Given the description of an element on the screen output the (x, y) to click on. 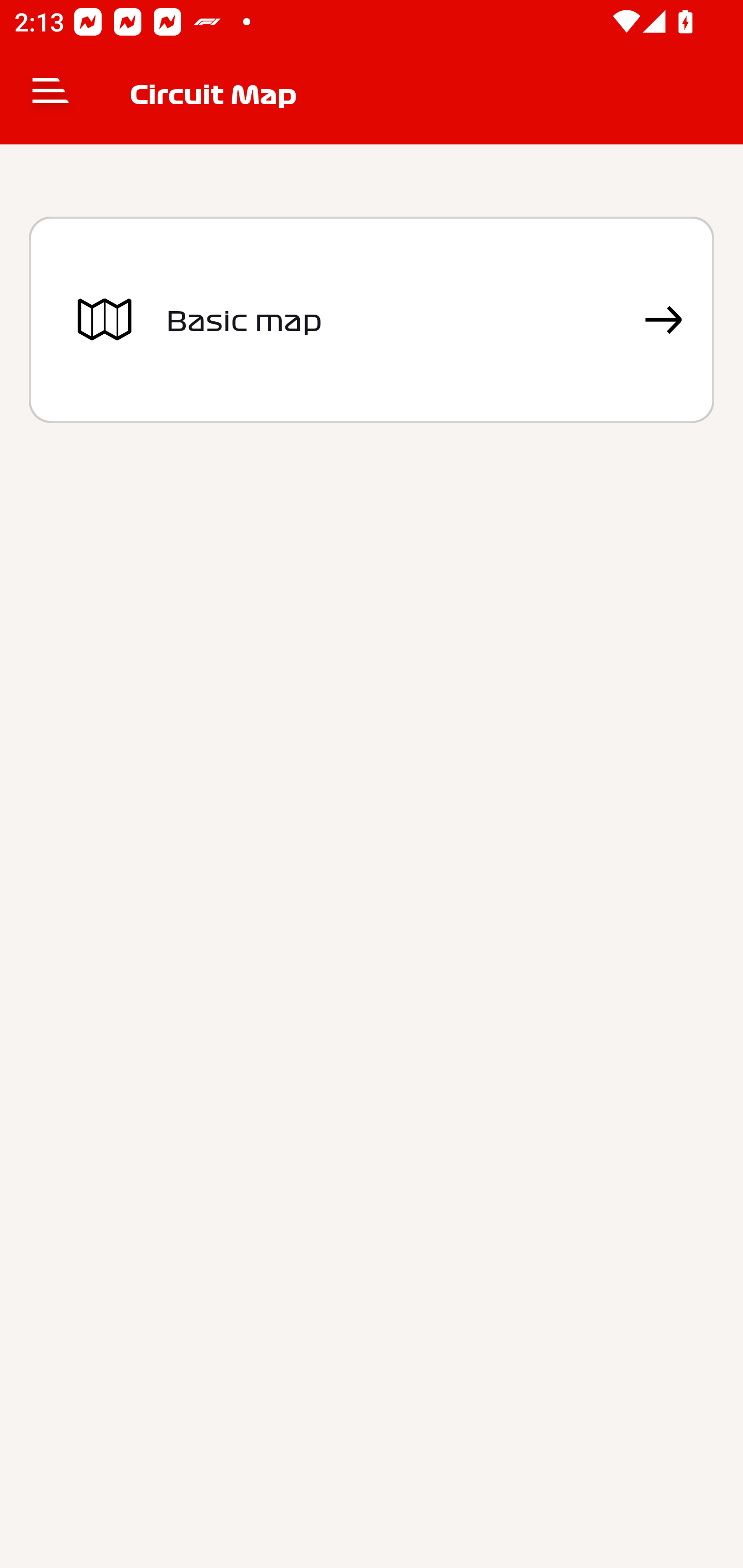
Navigate up (50, 93)
Basic map (371, 319)
